Given the description of an element on the screen output the (x, y) to click on. 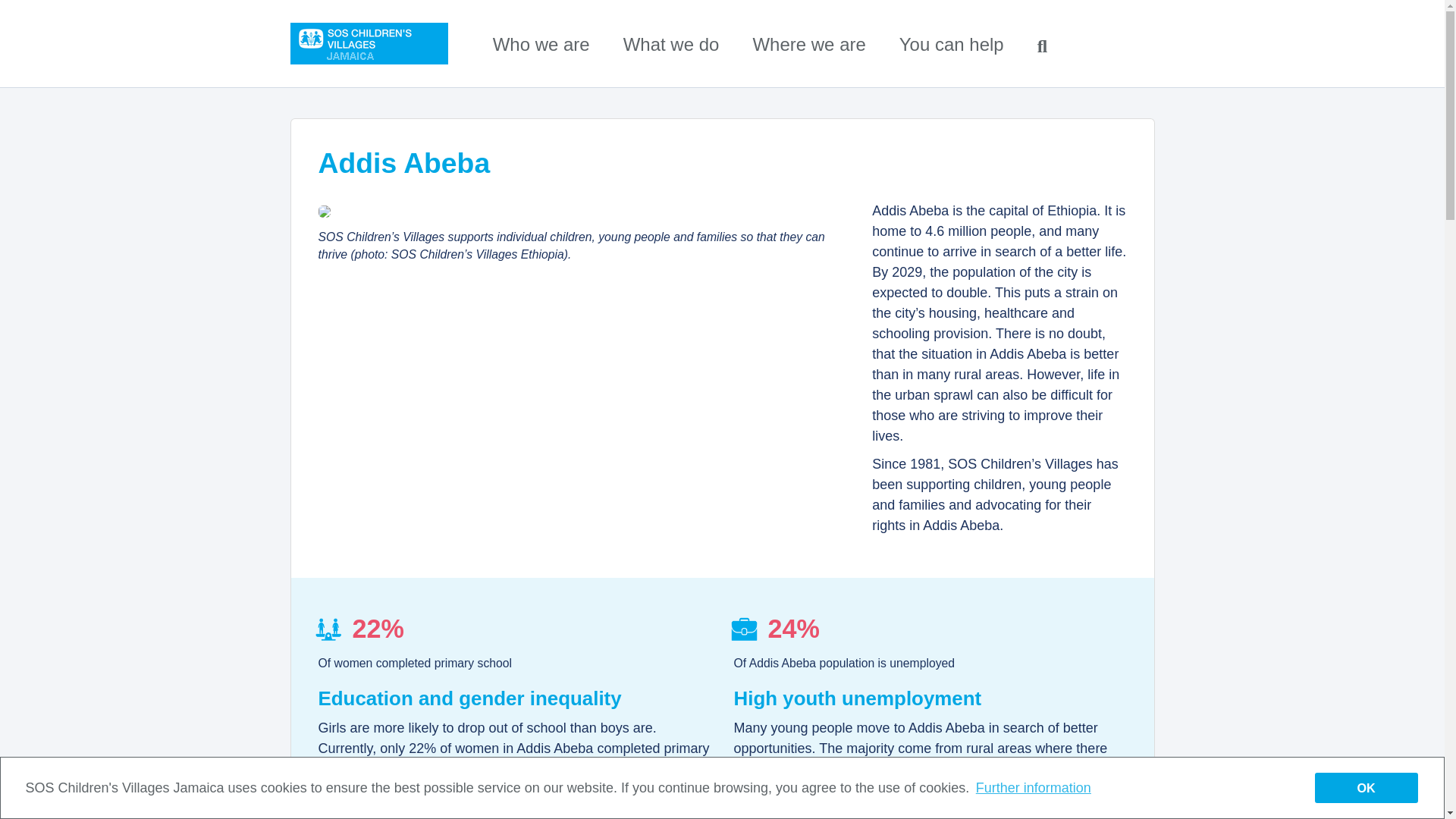
Who we are (541, 44)
Who we are (541, 44)
OK (1366, 787)
What we do (671, 44)
You can help (951, 44)
Where we are (808, 44)
Further information (1032, 787)
What we do (671, 44)
You can help (951, 44)
Where we are (808, 44)
